Given the description of an element on the screen output the (x, y) to click on. 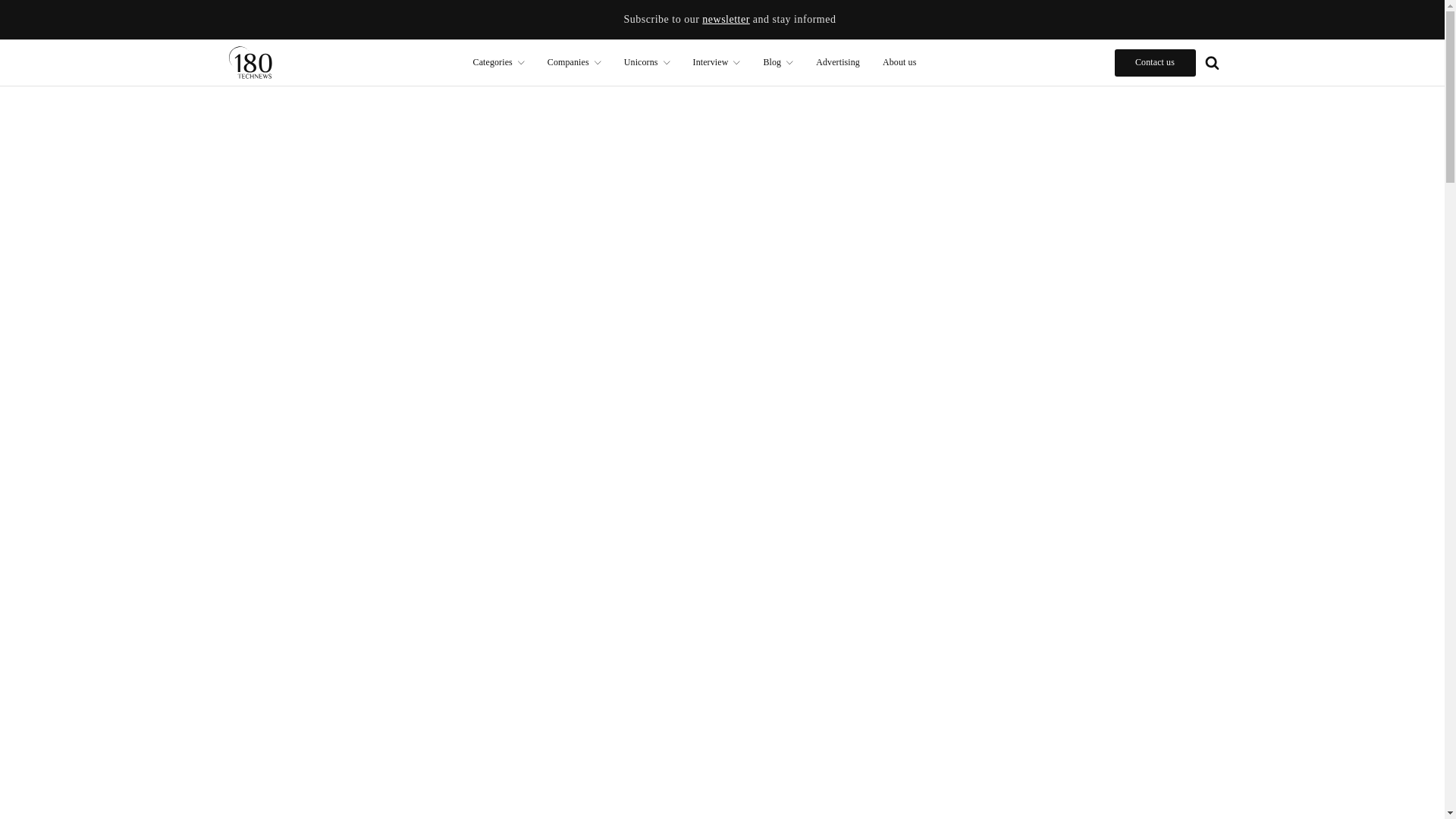
Companies (573, 62)
Categories (498, 62)
Unicorns (646, 62)
Interview (716, 62)
newsletter (725, 19)
About us (898, 62)
Contact us (1155, 62)
Advertising (837, 62)
Blog (778, 62)
